Given the description of an element on the screen output the (x, y) to click on. 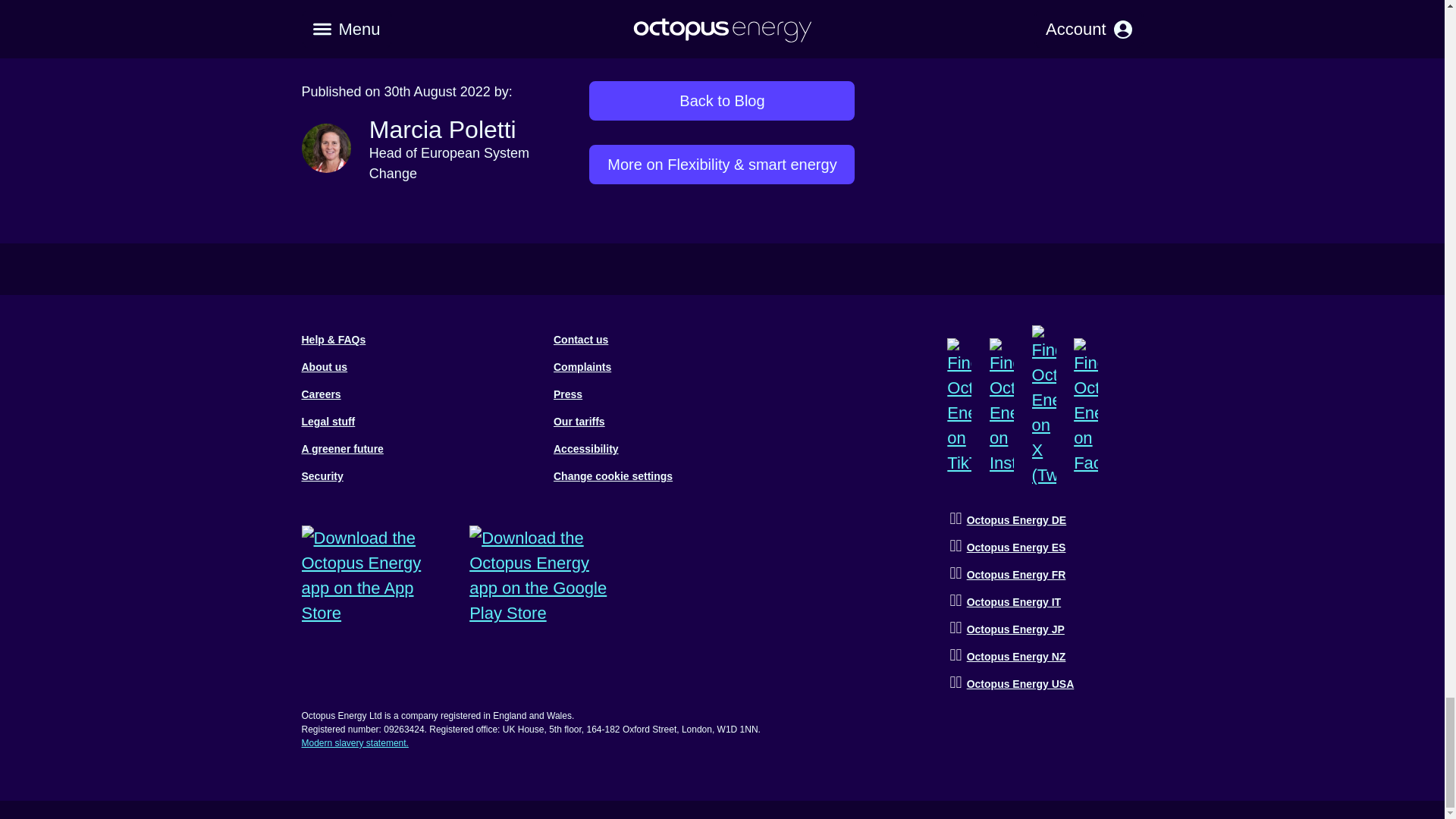
Legal stuff (328, 421)
About us (324, 367)
Security (322, 476)
Back to Blog (721, 99)
Complaints (582, 367)
Change cookie settings (612, 476)
A greener future (342, 449)
Accessibility (585, 449)
Press (567, 394)
Contact us (580, 339)
Careers (320, 394)
Our tariffs (579, 421)
